Given the description of an element on the screen output the (x, y) to click on. 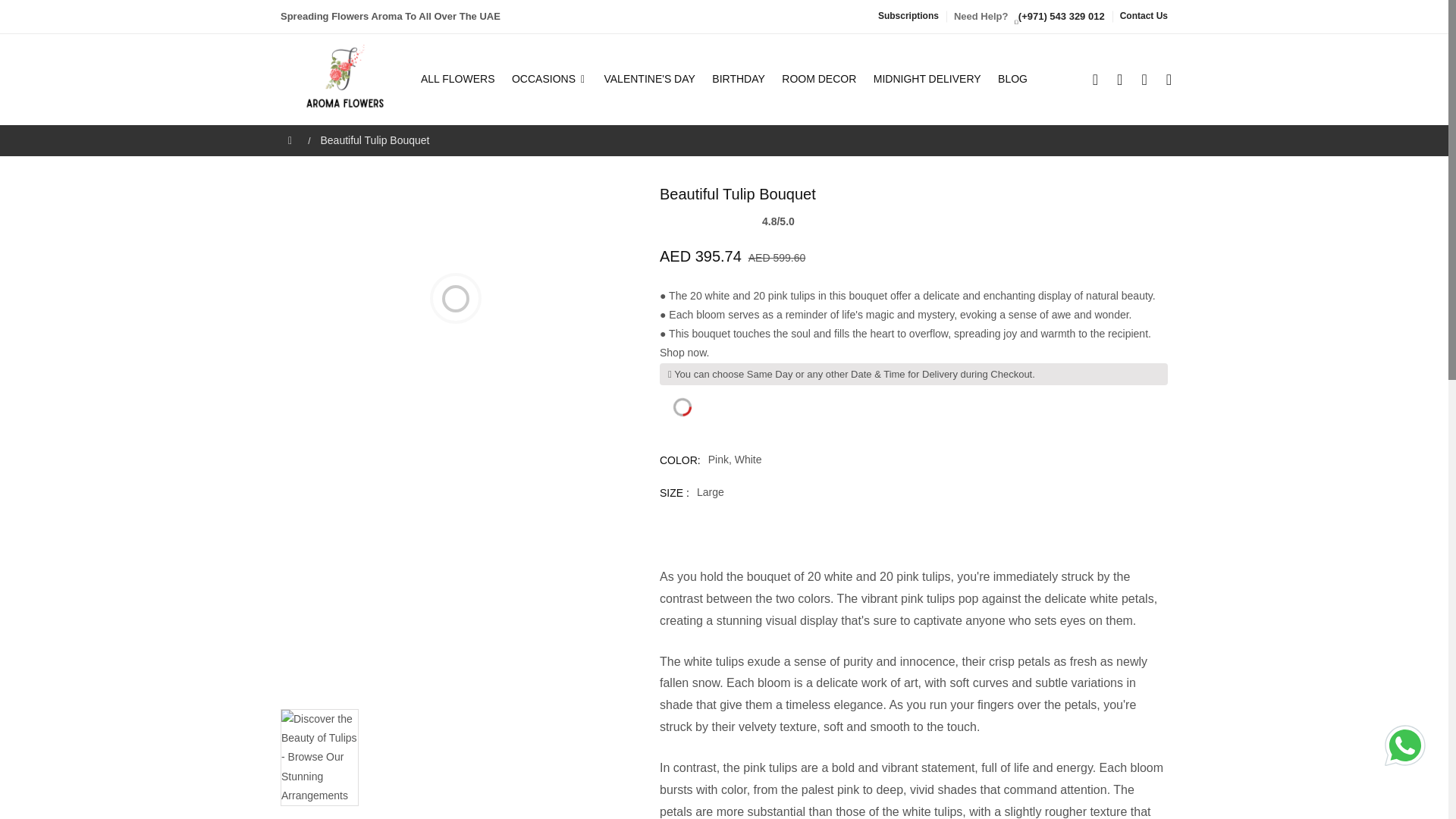
BIRTHDAY (738, 78)
OCCASIONS (548, 78)
Subscriptions (908, 15)
BLOG (1008, 78)
VALENTINE'S DAY (648, 78)
ALL FLOWERS (461, 78)
Contact Us (1143, 15)
ROOM DECOR (818, 78)
MIDNIGHT DELIVERY (927, 78)
